Given the description of an element on the screen output the (x, y) to click on. 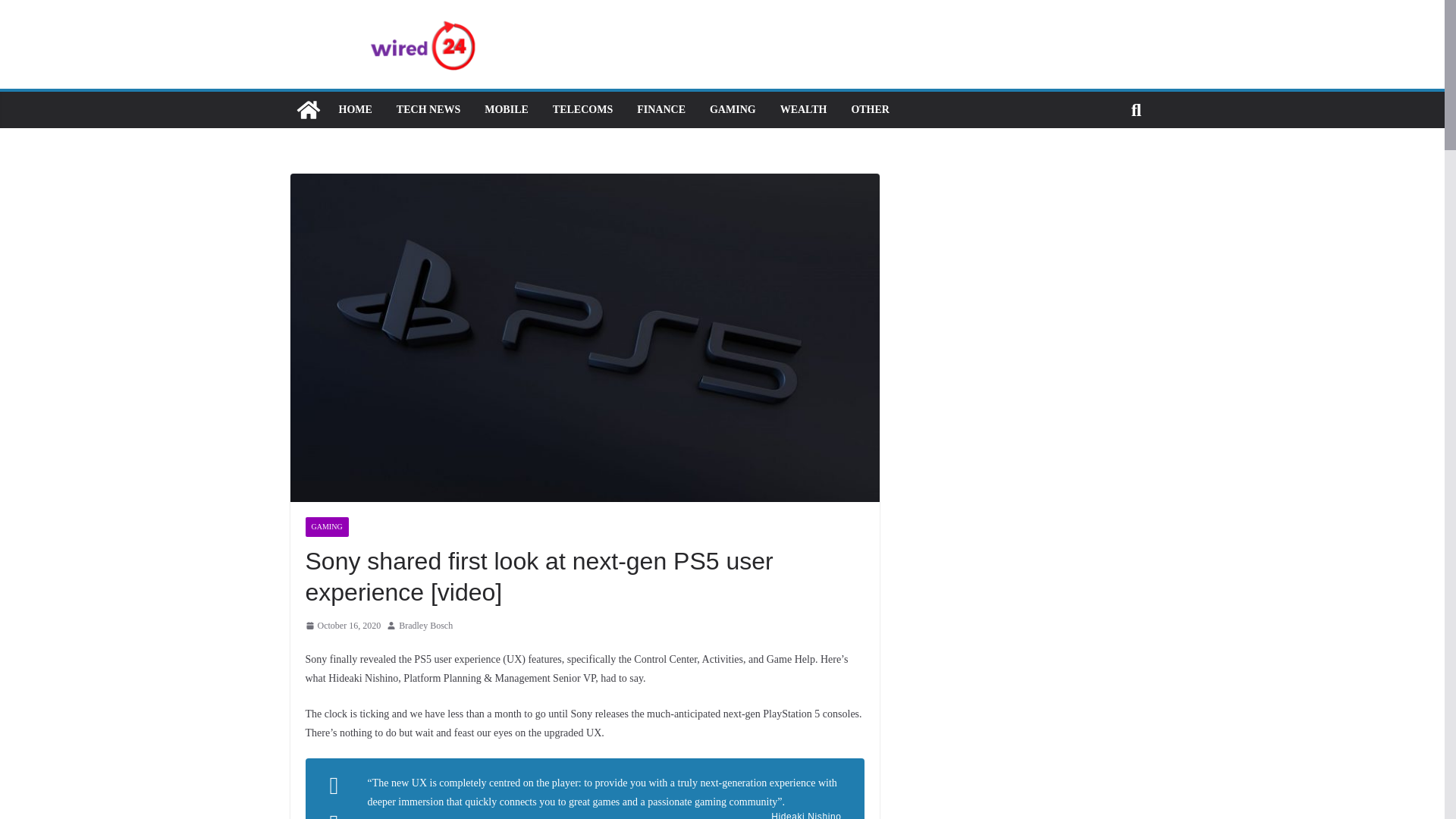
Bradley Bosch (425, 626)
FINANCE (661, 109)
TELECOMS (582, 109)
October 16, 2020 (342, 626)
WEALTH (803, 109)
Wired24 (307, 109)
HOME (354, 109)
OTHER (869, 109)
Bradley Bosch (425, 626)
TECH NEWS (428, 109)
MOBILE (506, 109)
10:12 am (342, 626)
GAMING (325, 526)
GAMING (732, 109)
